Given the description of an element on the screen output the (x, y) to click on. 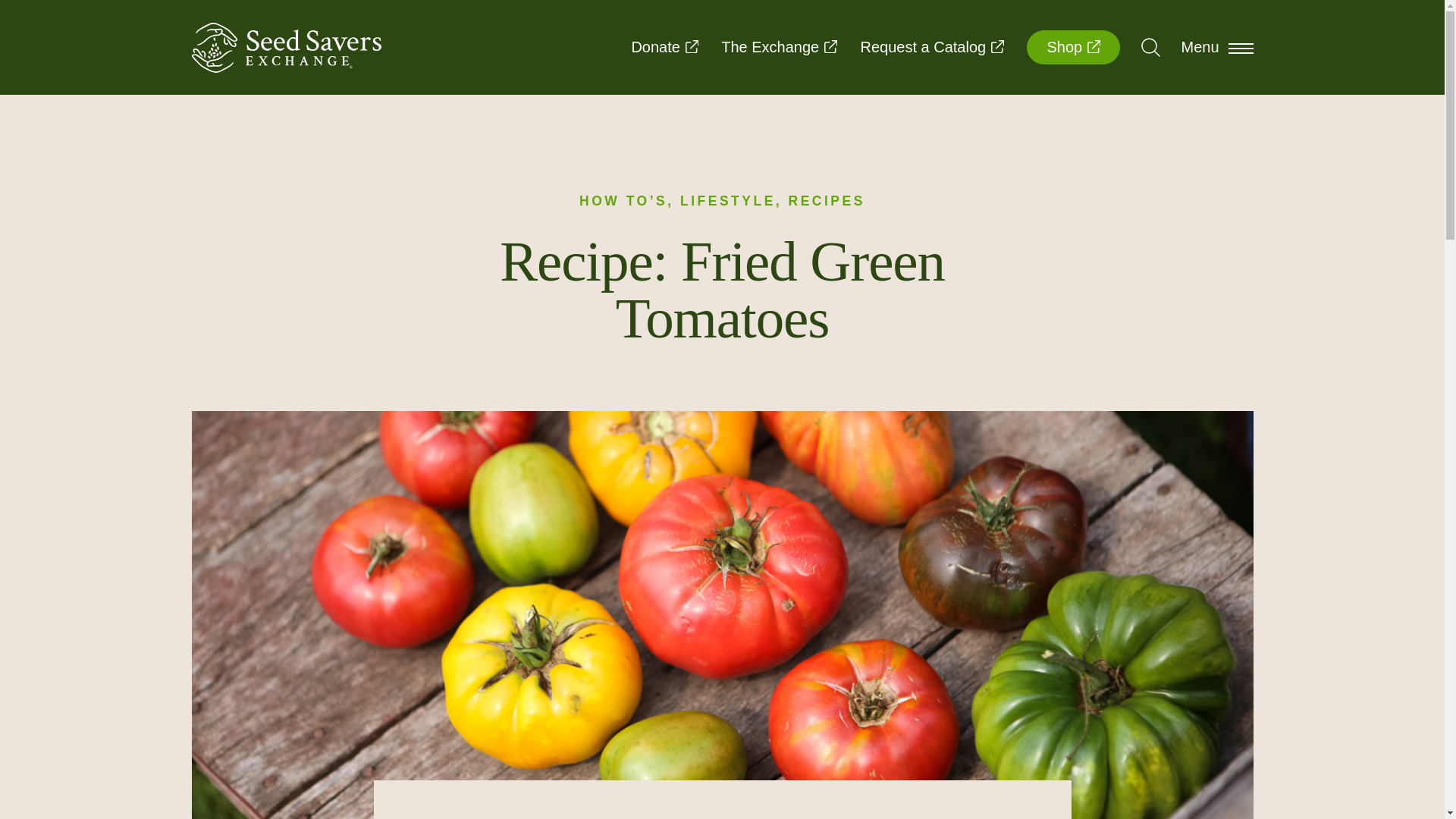
The Exchange (778, 46)
SeedSavers (285, 47)
Donate (664, 46)
Menu (1216, 46)
Shop (1072, 47)
Request a Catalog (932, 46)
